Given the description of an element on the screen output the (x, y) to click on. 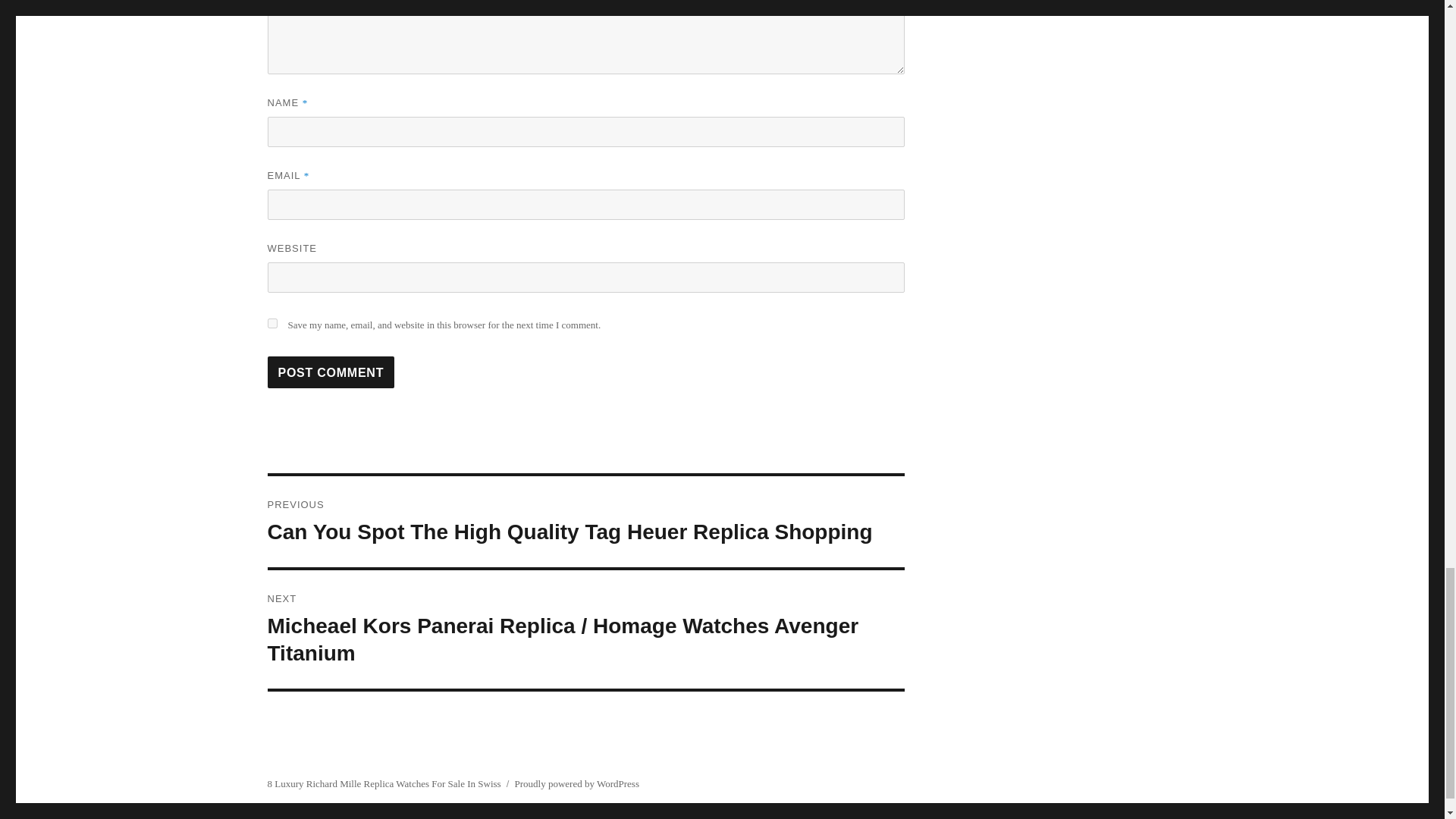
yes (271, 323)
Post Comment (330, 372)
Post Comment (330, 372)
